Given the description of an element on the screen output the (x, y) to click on. 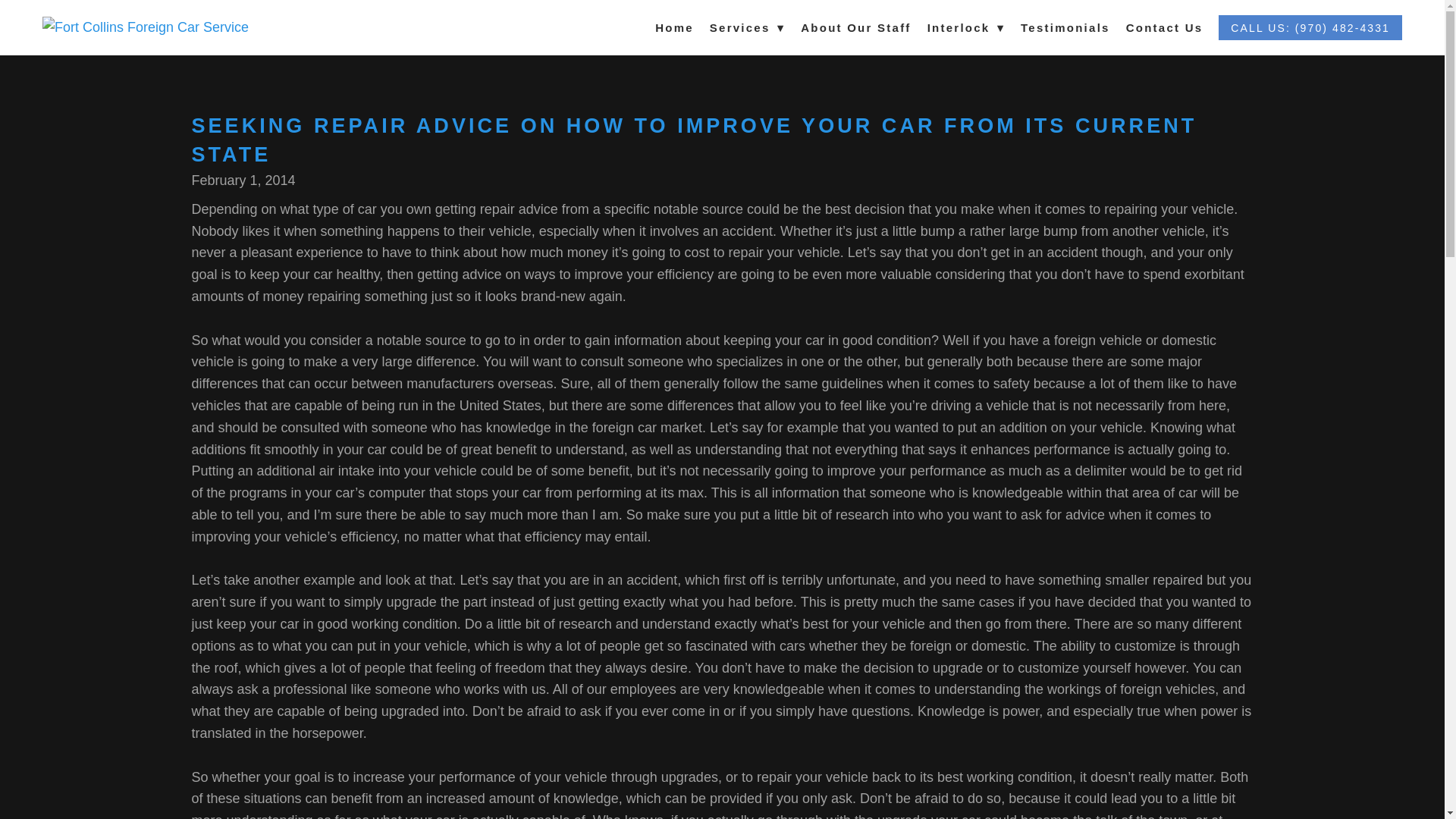
Home (674, 27)
Testimonials (1064, 27)
About Our Staff (855, 27)
Fort Collins Foreign Car Service (152, 27)
Contact Us (1164, 27)
